Given the description of an element on the screen output the (x, y) to click on. 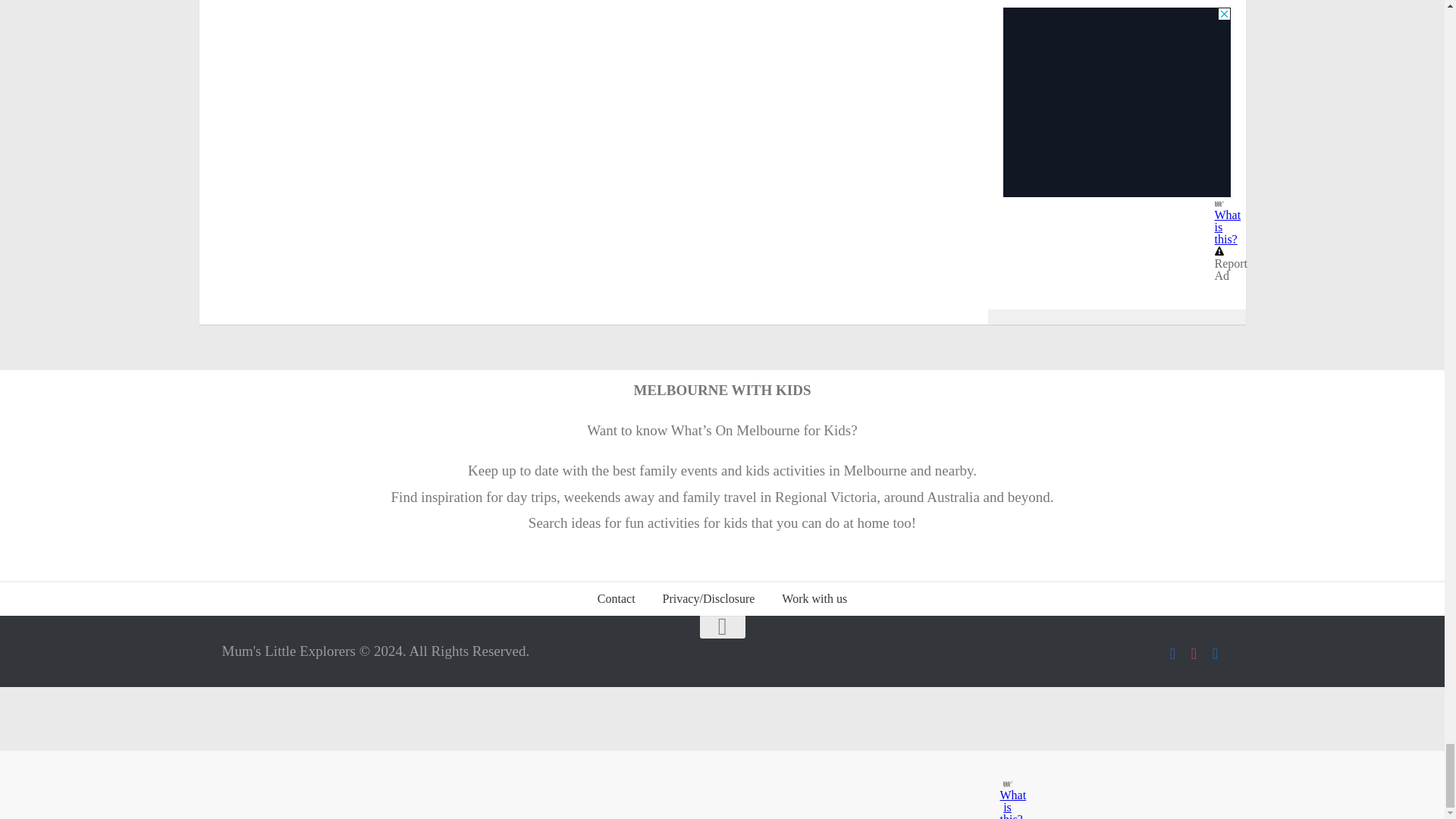
Follow us on Facebook (1171, 653)
